Given the description of an element on the screen output the (x, y) to click on. 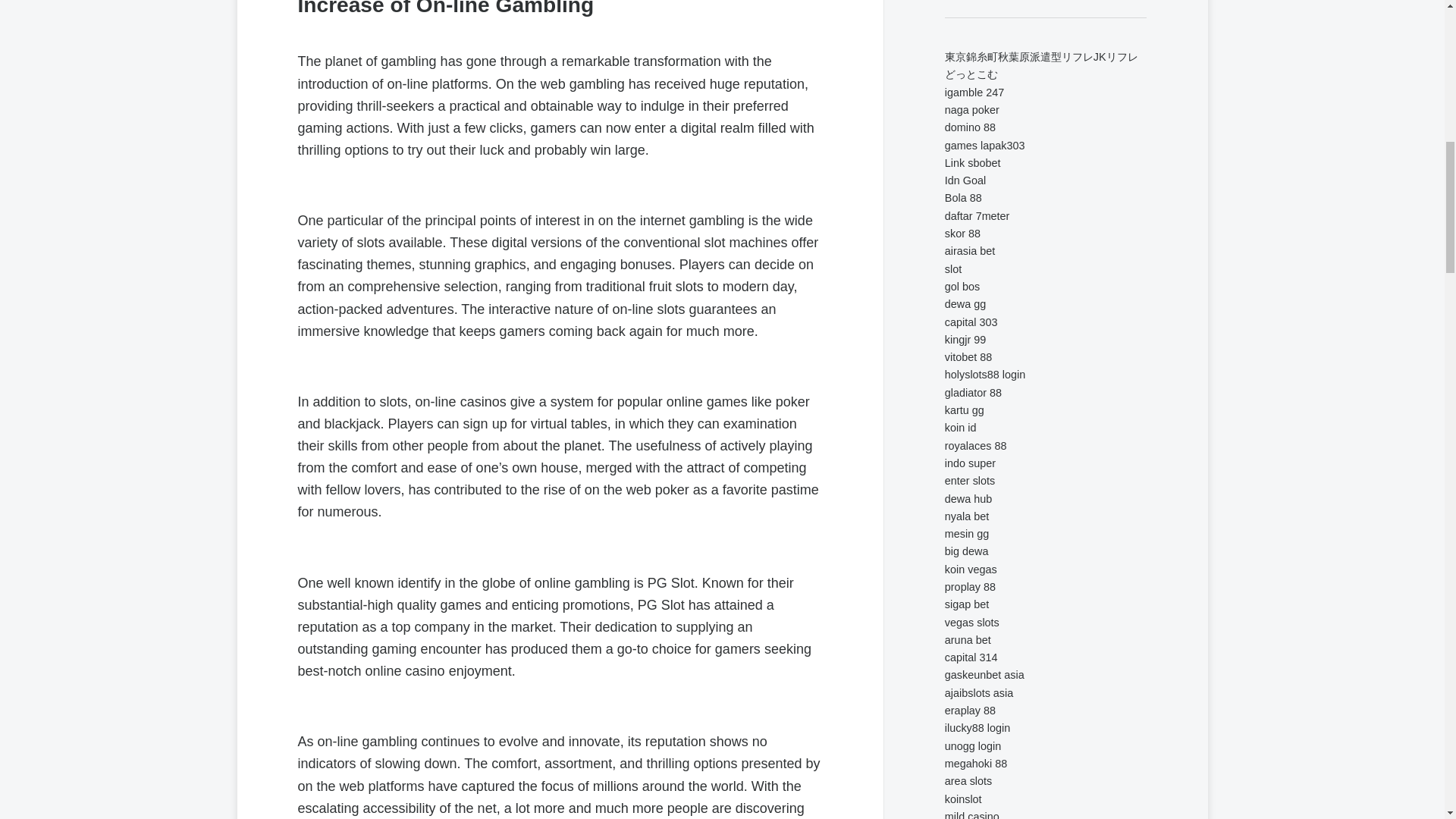
gol bos (961, 286)
Bola 88 (962, 197)
domino 88 (969, 127)
capital 303 (970, 322)
airasia bet (969, 250)
Link sbobet (972, 162)
games lapak303 (984, 145)
skor 88 (961, 233)
Idn Goal (964, 180)
slot (952, 268)
igamble 247 (974, 92)
dewa gg (964, 304)
daftar 7meter (977, 215)
naga poker (971, 110)
